Given the description of an element on the screen output the (x, y) to click on. 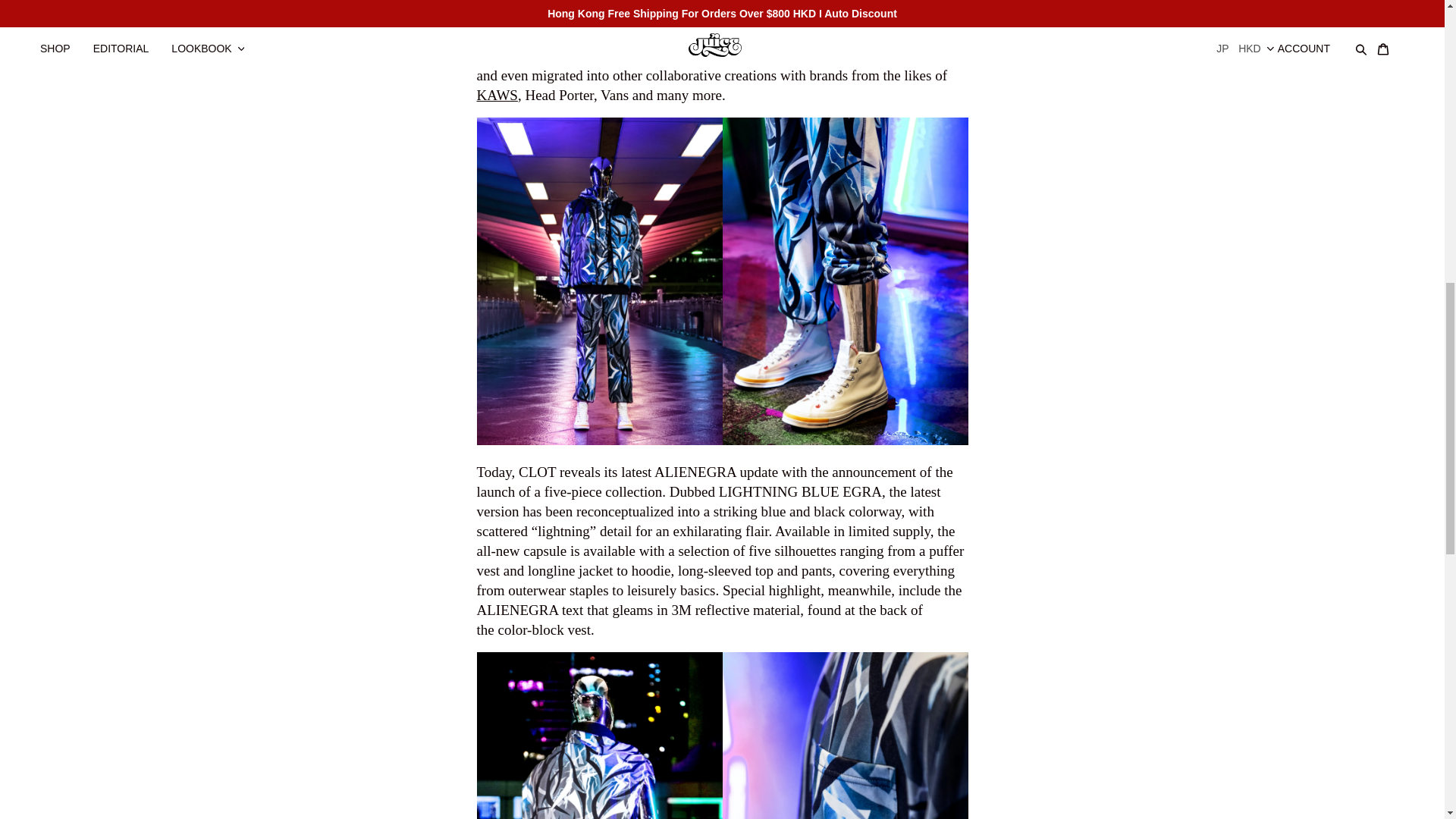
KAWS (496, 94)
ALIENEGRA: PAST, PRESENT AND FUTURE - A BRIEF HISTORY (566, 16)
